Given the description of an element on the screen output the (x, y) to click on. 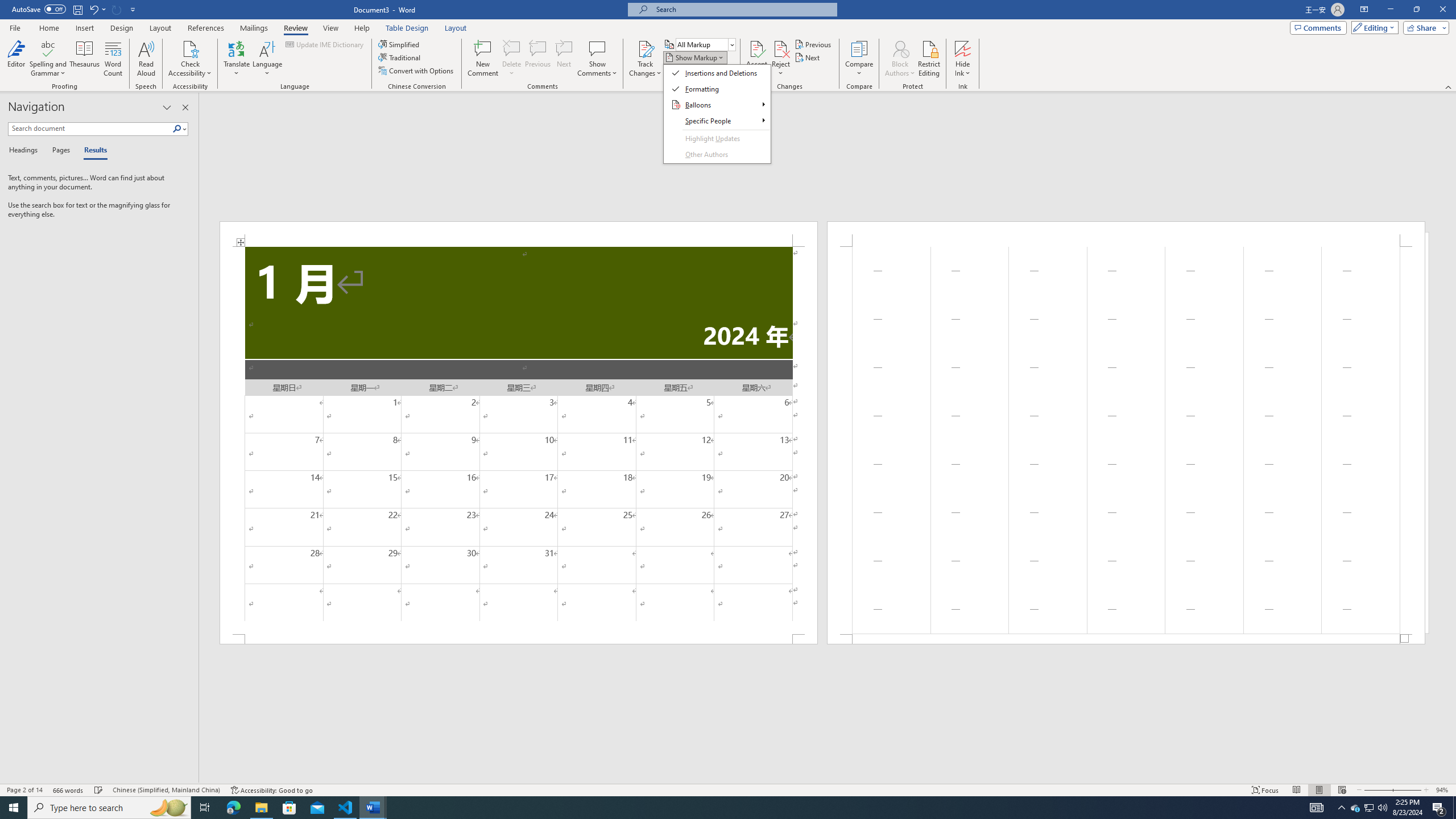
New Comment (482, 58)
Check Accessibility (189, 48)
Show Comments (597, 48)
Reject and Move to Next (780, 48)
Update IME Dictionary... (324, 44)
Language (267, 58)
